Given the description of an element on the screen output the (x, y) to click on. 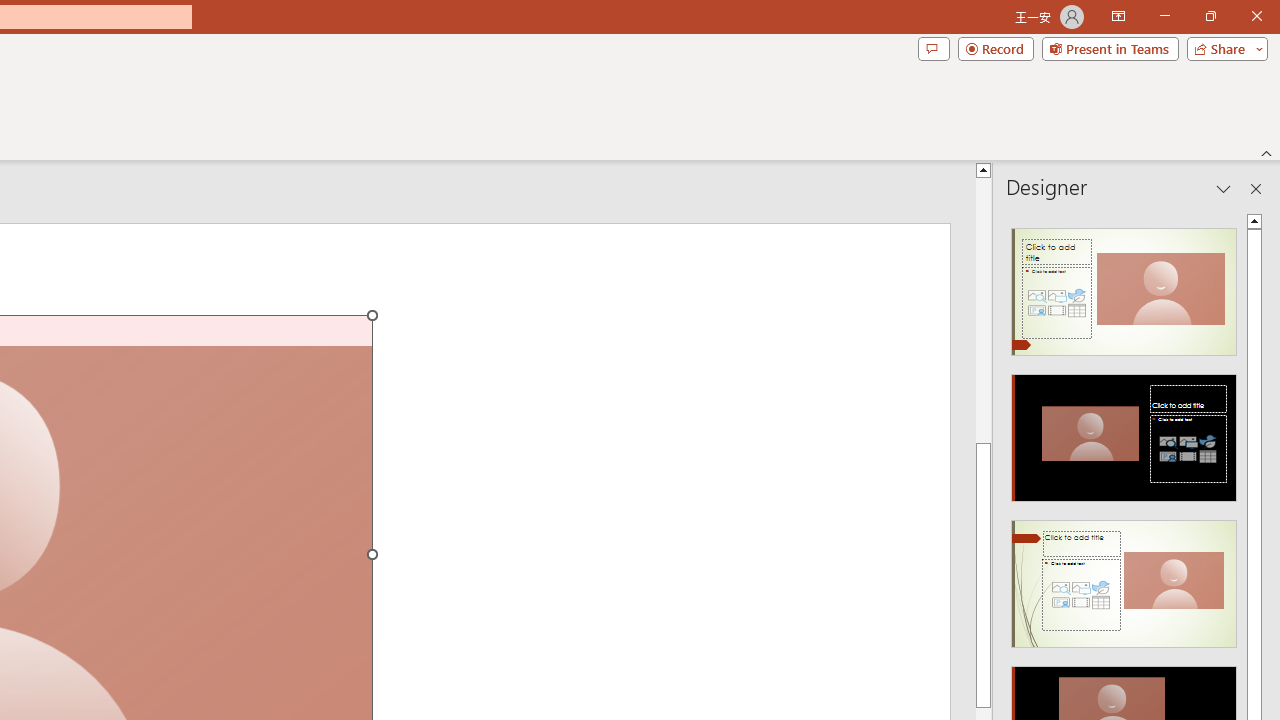
Recommended Design: Design Idea (1124, 286)
